Given the description of an element on the screen output the (x, y) to click on. 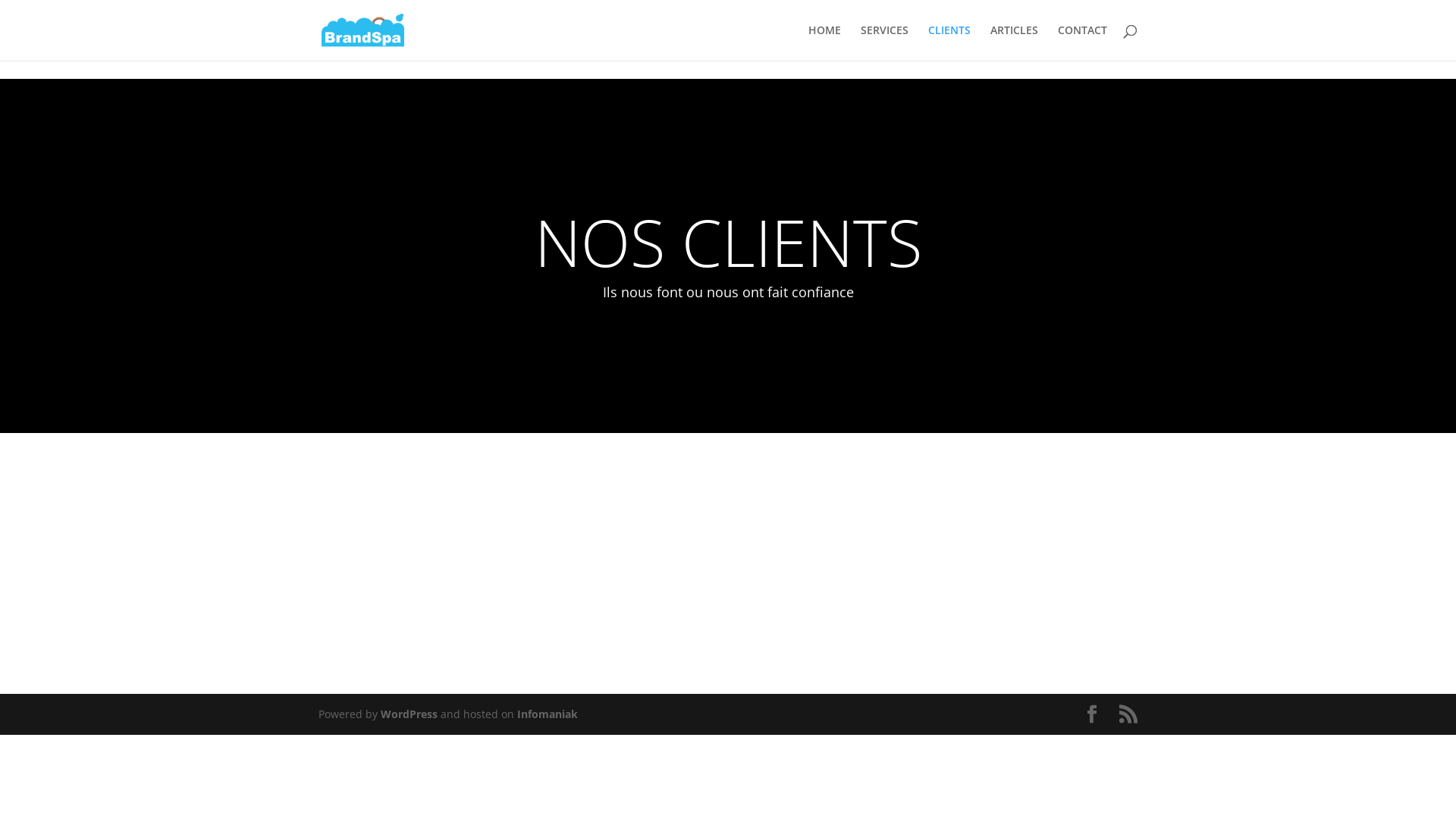
ARTICLES Element type: text (1014, 42)
HOME Element type: text (824, 42)
SERVICES Element type: text (884, 42)
Infomaniak Element type: text (547, 713)
CLIENTS Element type: text (949, 42)
CONTACT Element type: text (1082, 42)
WordPress Element type: text (408, 713)
